Given the description of an element on the screen output the (x, y) to click on. 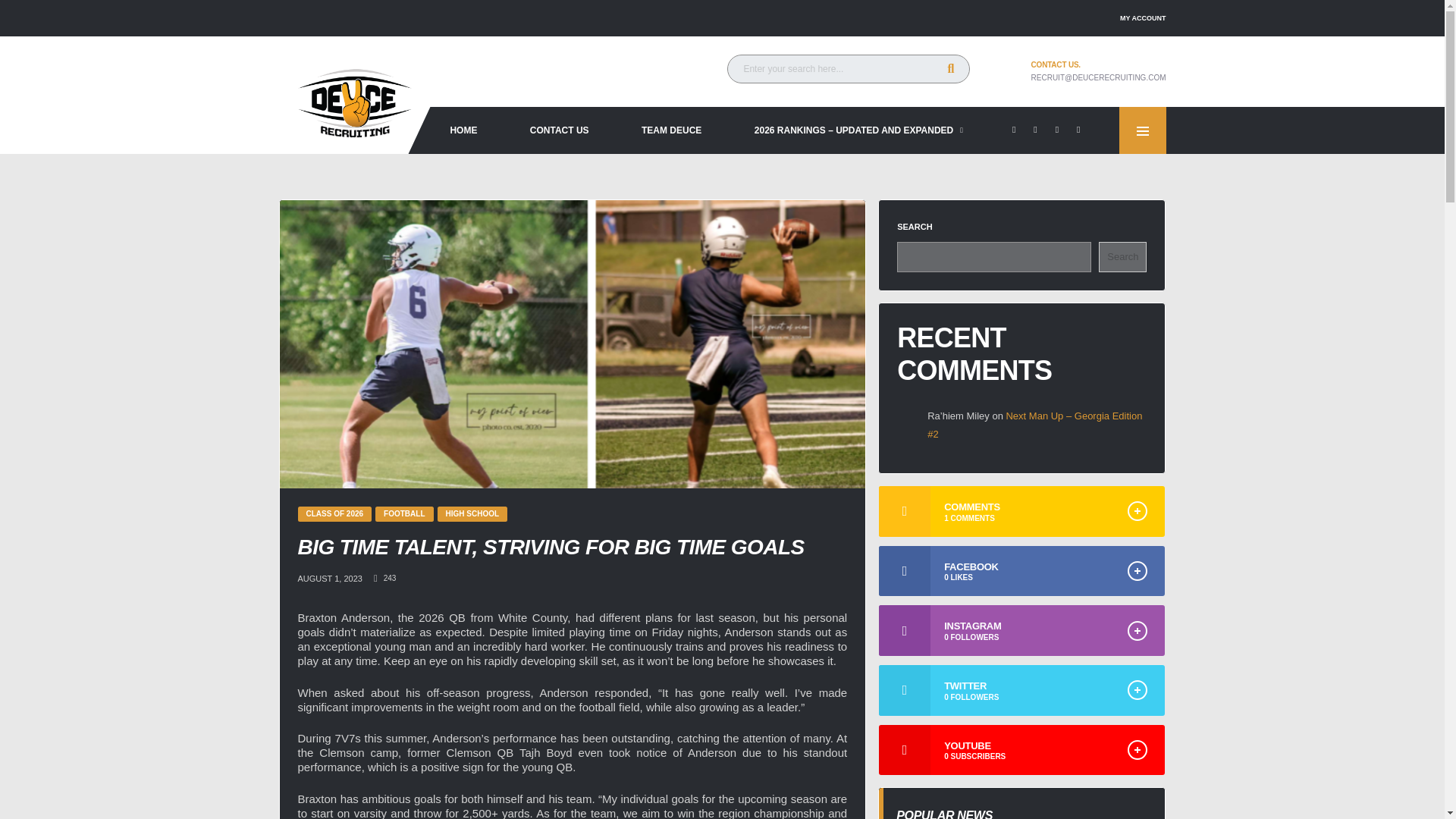
CONTACT US (558, 130)
HOME (462, 130)
TEAM DEUCE (670, 130)
Search (1123, 256)
MY ACCOUNT (1142, 18)
